Given the description of an element on the screen output the (x, y) to click on. 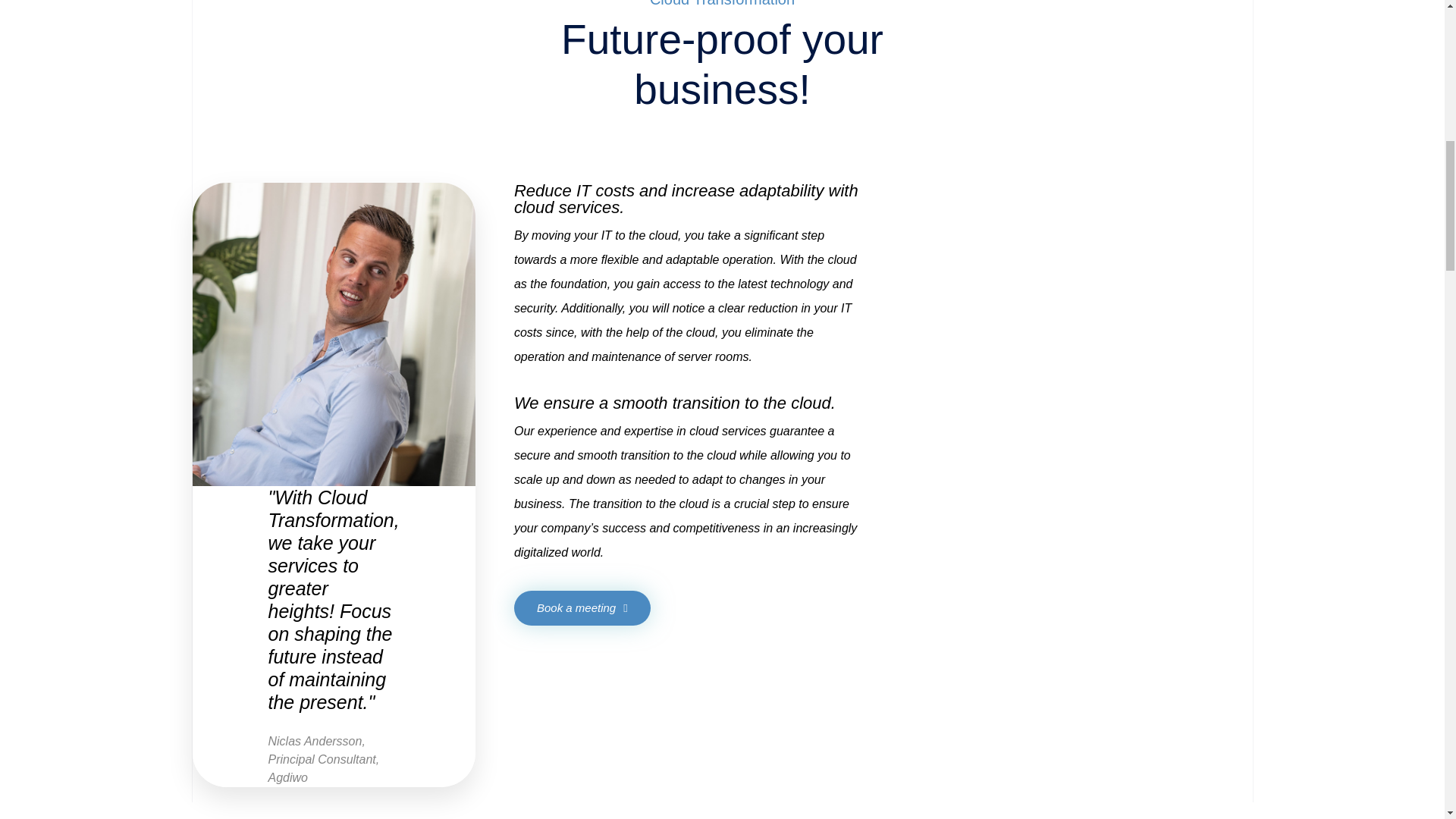
Book a meeting (581, 607)
